Given the description of an element on the screen output the (x, y) to click on. 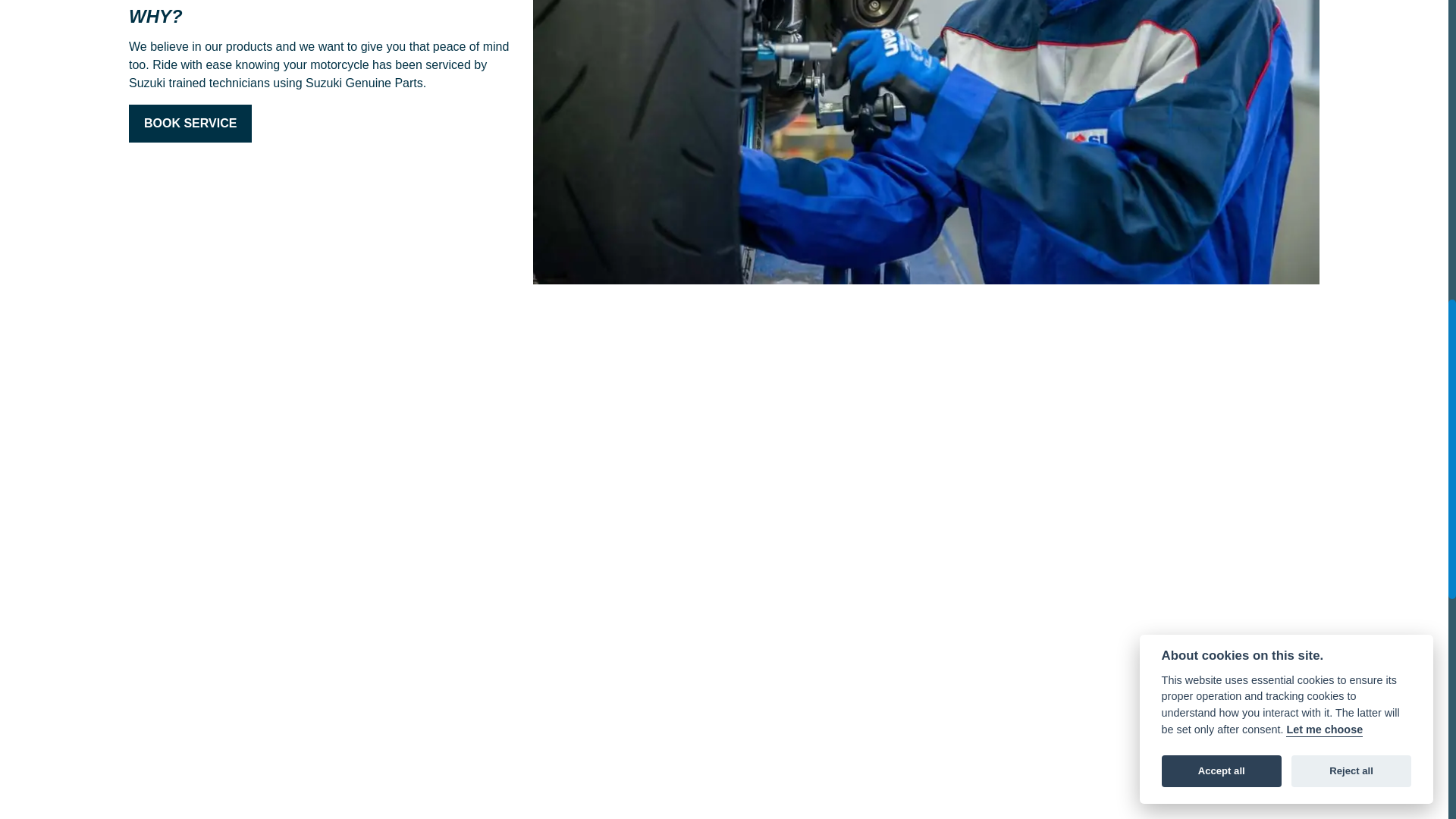
BOOK SERVICE (190, 123)
